Given the description of an element on the screen output the (x, y) to click on. 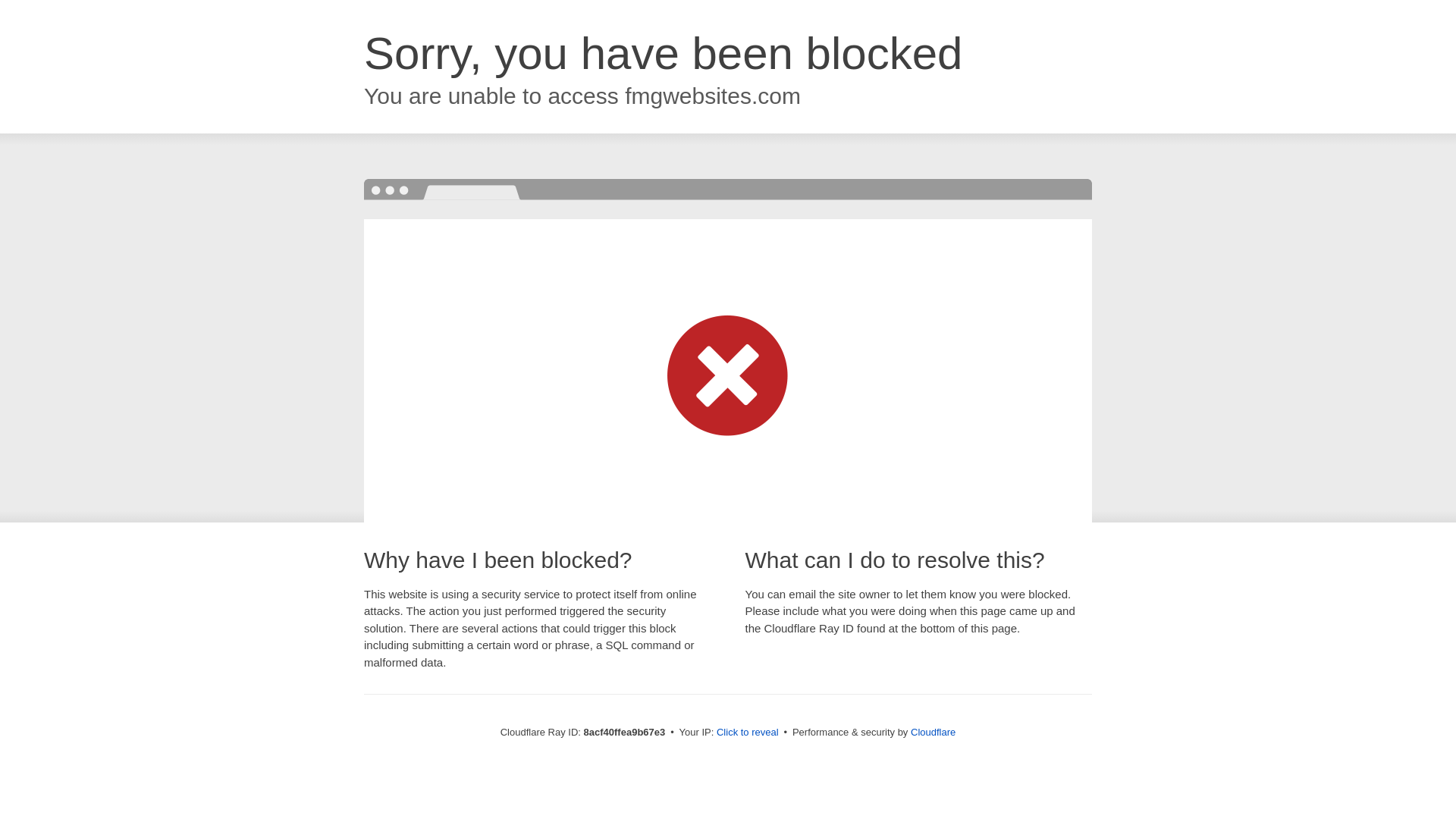
Click to reveal (747, 732)
Cloudflare (933, 731)
